Given the description of an element on the screen output the (x, y) to click on. 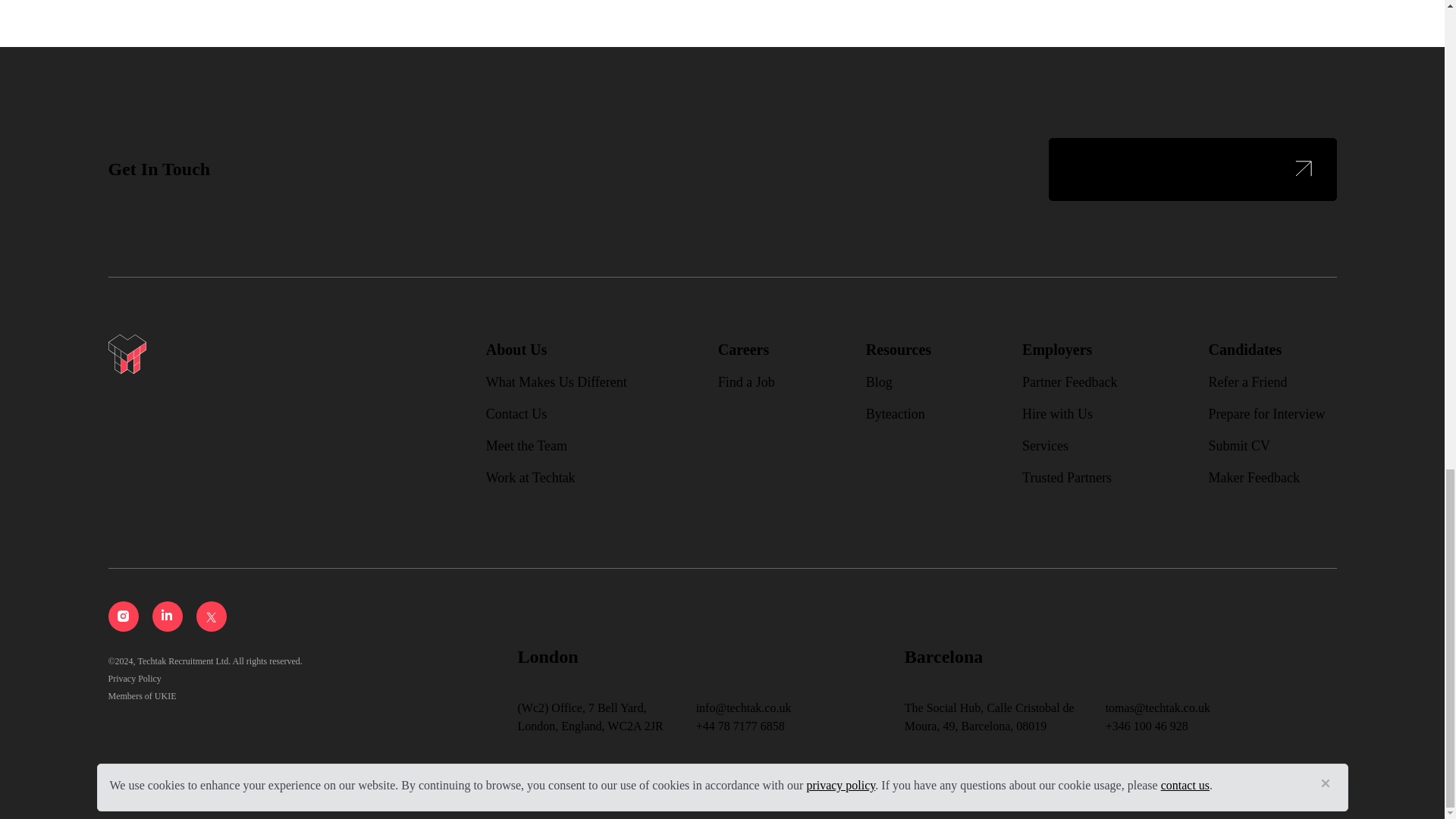
Contact Us (516, 414)
Meet the Team (526, 445)
Work at Techtak (530, 477)
About Us (516, 349)
What Makes Us Different (556, 382)
